Given the description of an element on the screen output the (x, y) to click on. 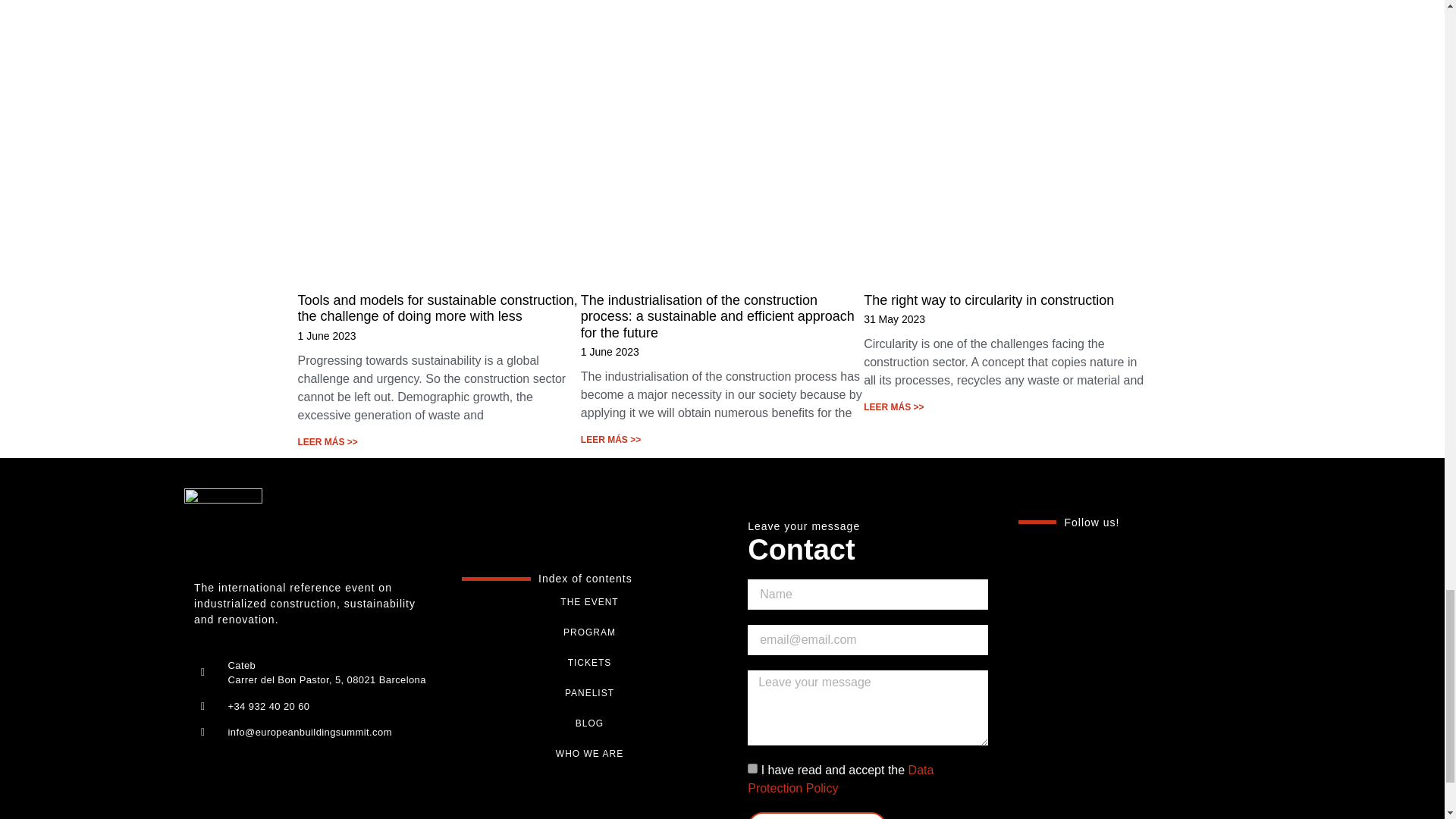
on (752, 768)
